Given the description of an element on the screen output the (x, y) to click on. 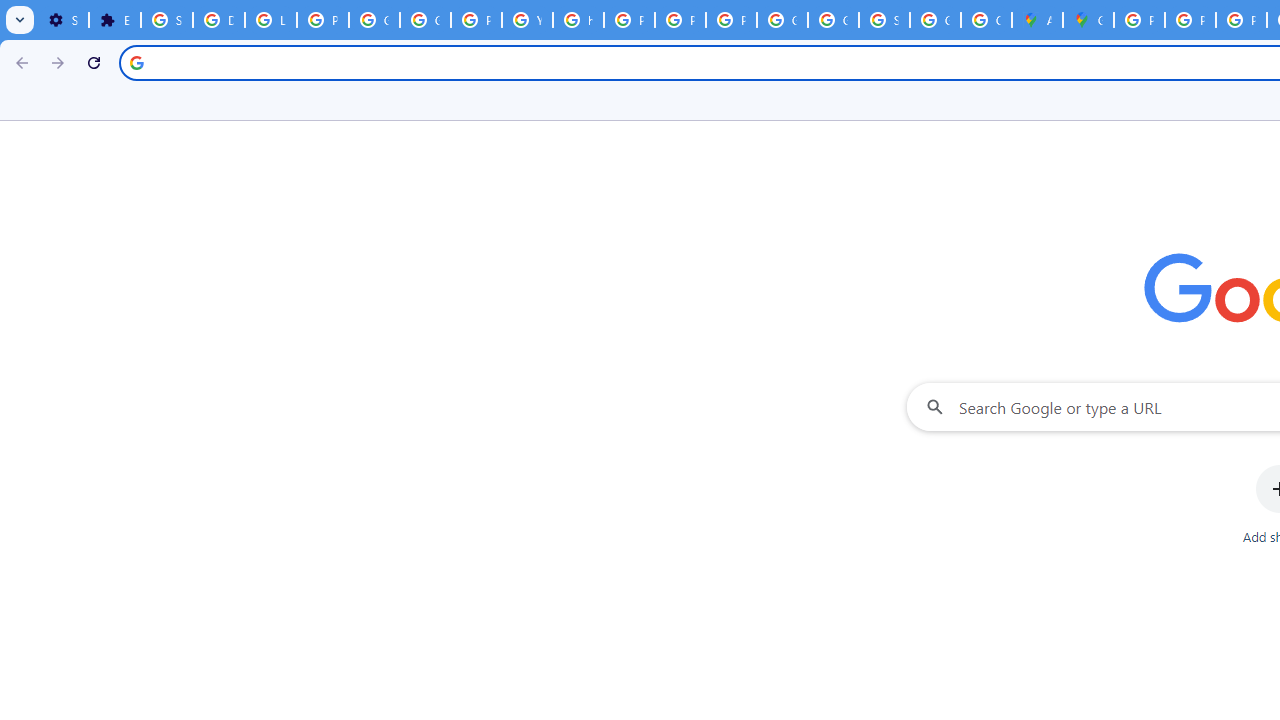
Google Maps (1087, 20)
Privacy Help Center - Policies Help (1189, 20)
https://scholar.google.com/ (578, 20)
Create your Google Account (986, 20)
Google Account Help (374, 20)
Sign in - Google Accounts (884, 20)
Privacy Help Center - Policies Help (1241, 20)
Privacy Help Center - Policies Help (629, 20)
